Given the description of an element on the screen output the (x, y) to click on. 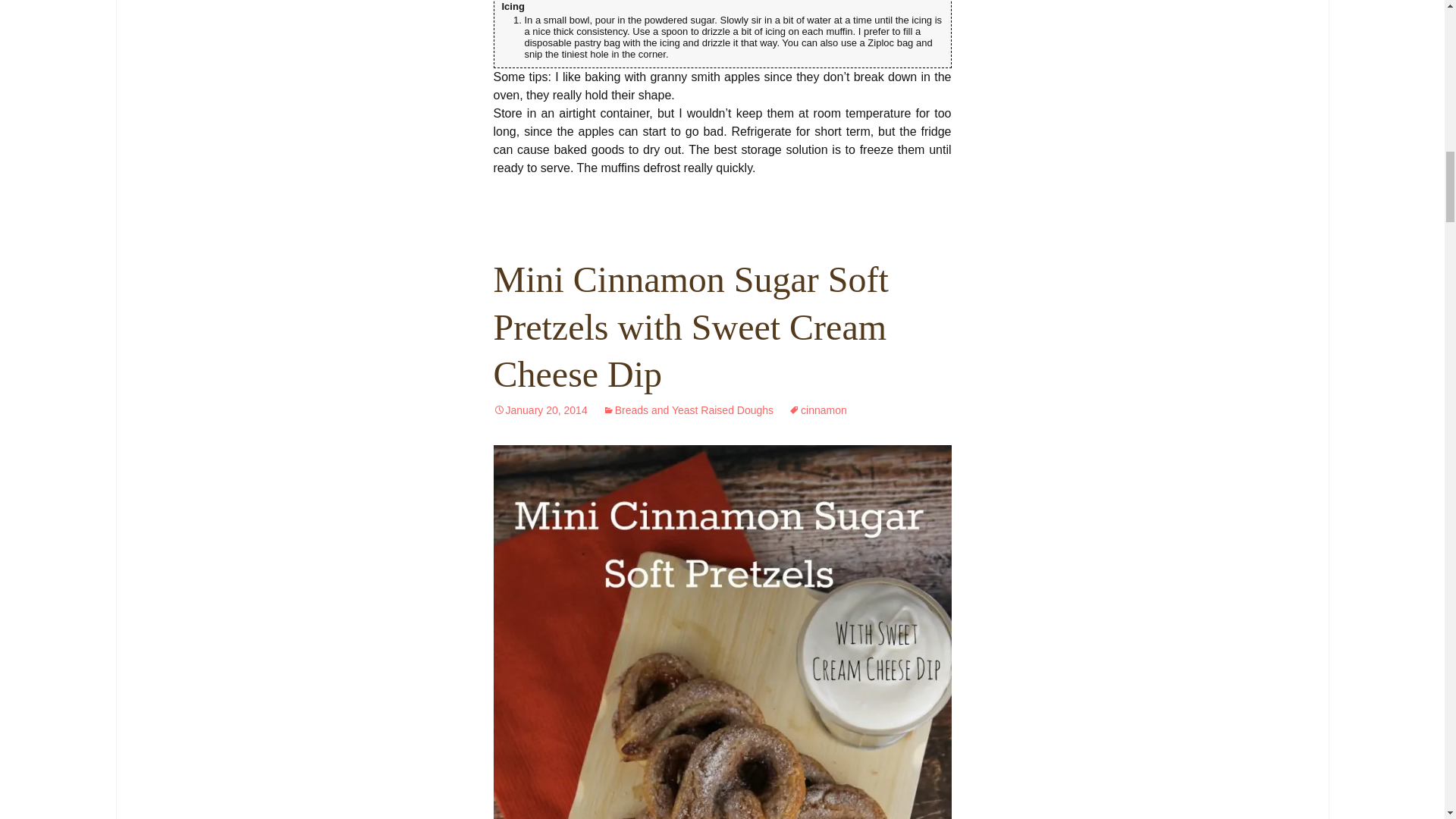
January 20, 2014 (539, 410)
cinnamon (818, 410)
Breads and Yeast Raised Doughs (687, 410)
